Given the description of an element on the screen output the (x, y) to click on. 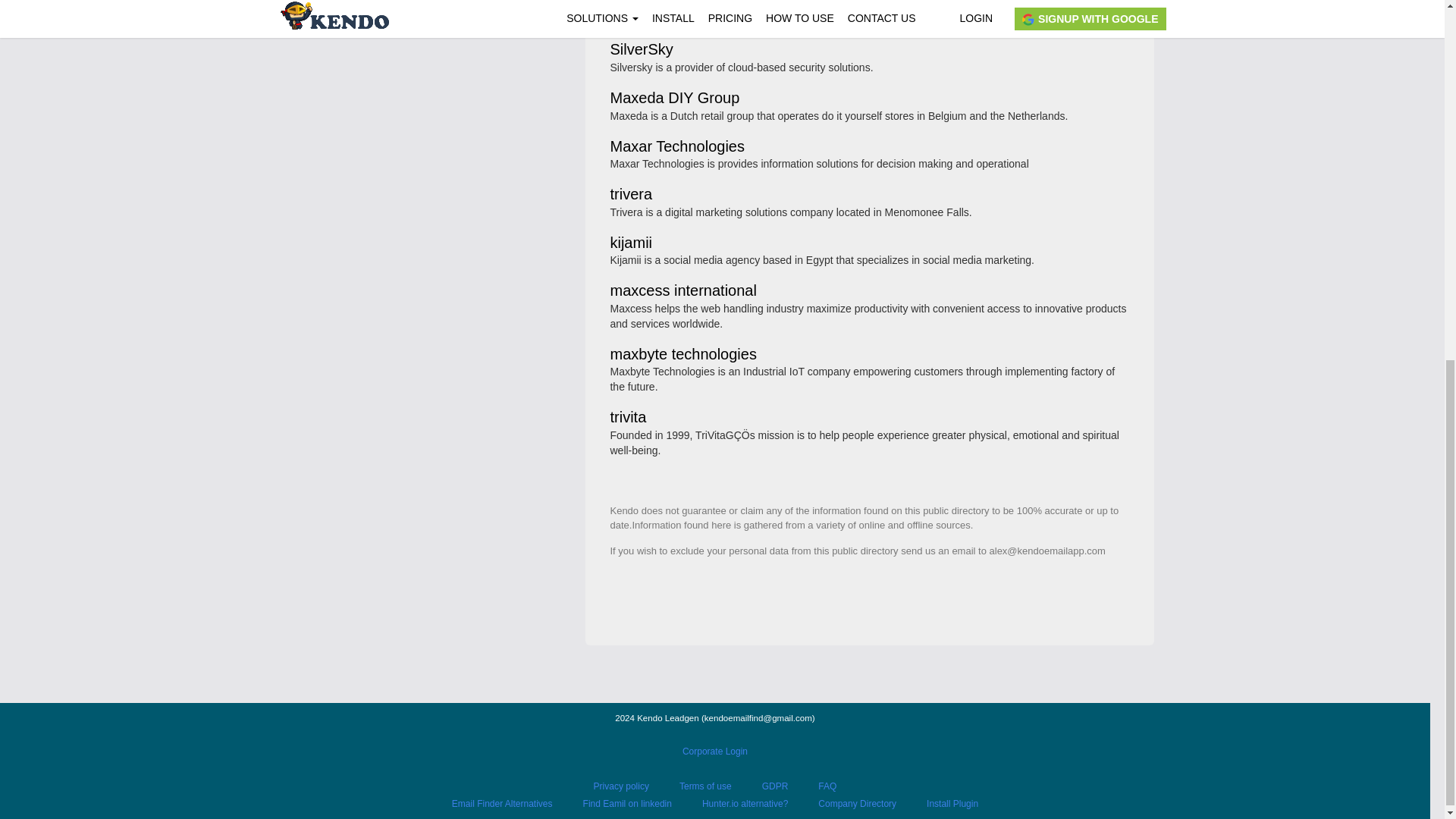
trivera (631, 195)
SilverSky (641, 50)
maxcases (644, 4)
Find anyone's contact info. (425, 22)
trivita (628, 418)
Maxeda DIY Group (674, 98)
Corporate Login (715, 751)
kijamii (631, 243)
Maxar Technologies (677, 146)
maxbyte technologies (682, 354)
Privacy policy (621, 786)
maxcess international (682, 291)
